Given the description of an element on the screen output the (x, y) to click on. 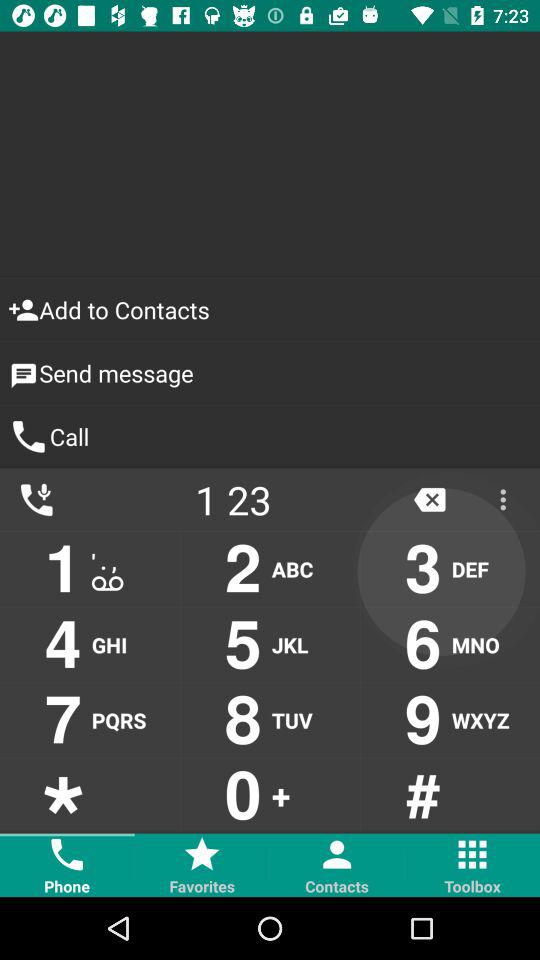
click icon below call (429, 499)
